Given the description of an element on the screen output the (x, y) to click on. 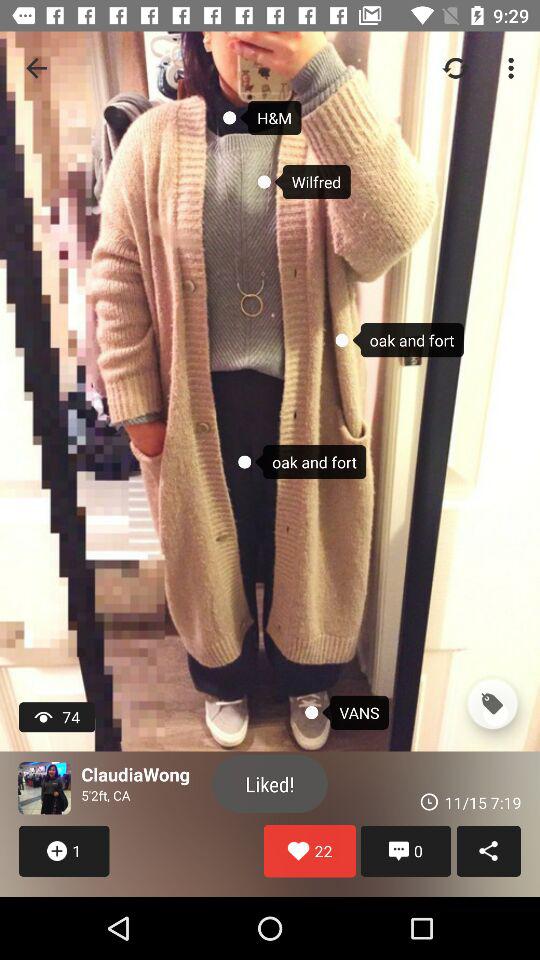
tagged (492, 704)
